Given the description of an element on the screen output the (x, y) to click on. 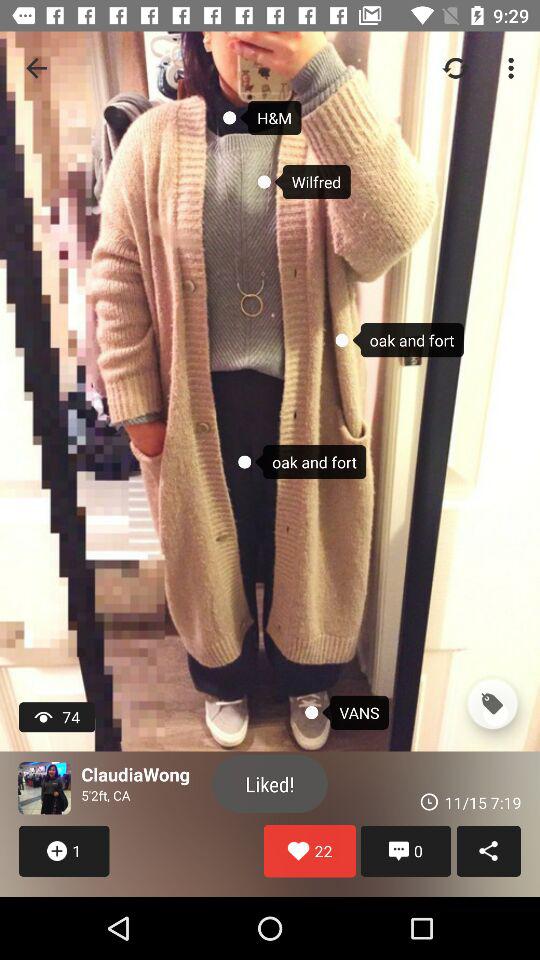
tagged (492, 704)
